Given the description of an element on the screen output the (x, y) to click on. 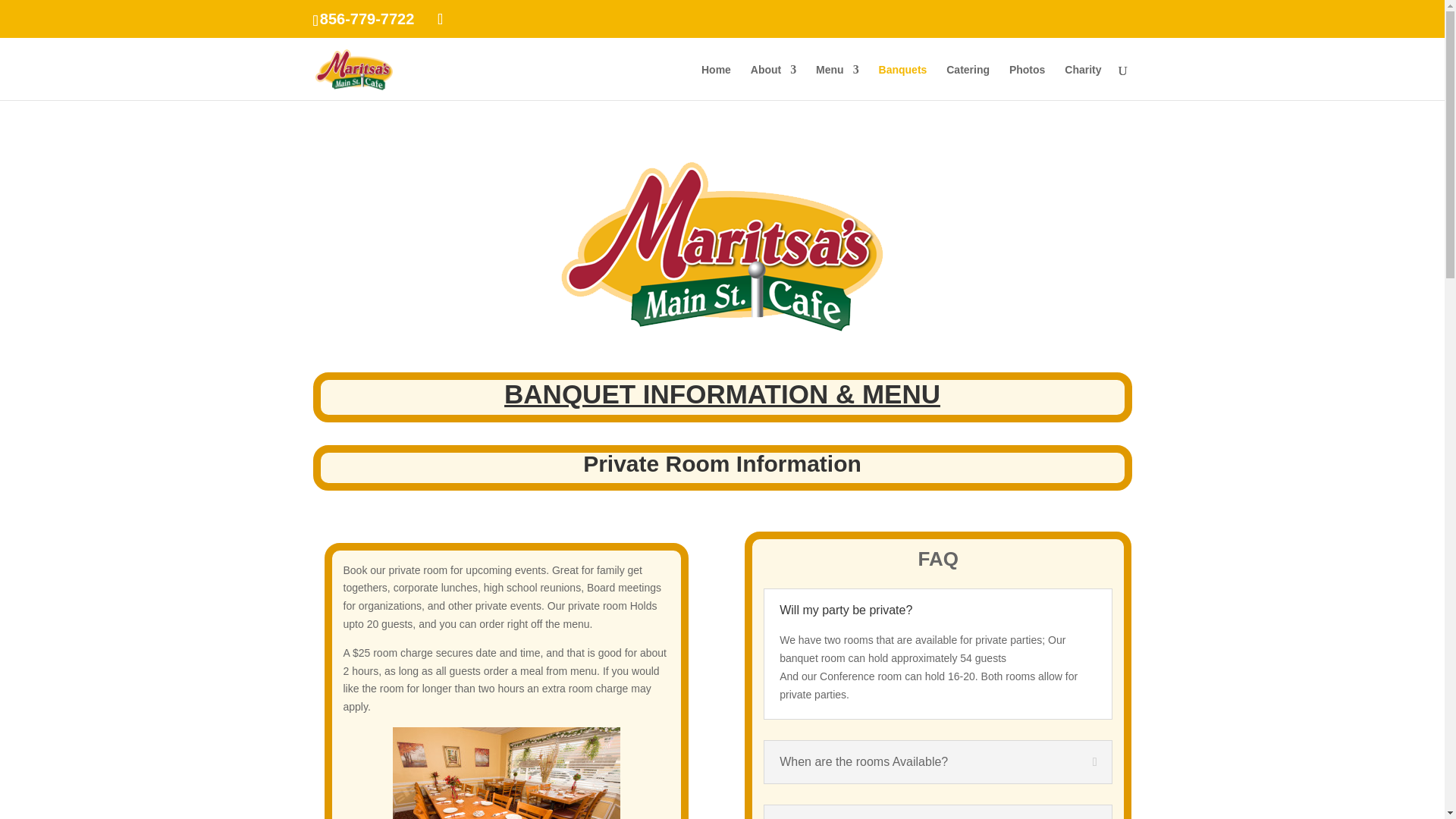
Catering (968, 81)
Photos (1027, 81)
Charity (1082, 81)
About (773, 81)
Banquets (903, 81)
Menu (837, 81)
